Given the description of an element on the screen output the (x, y) to click on. 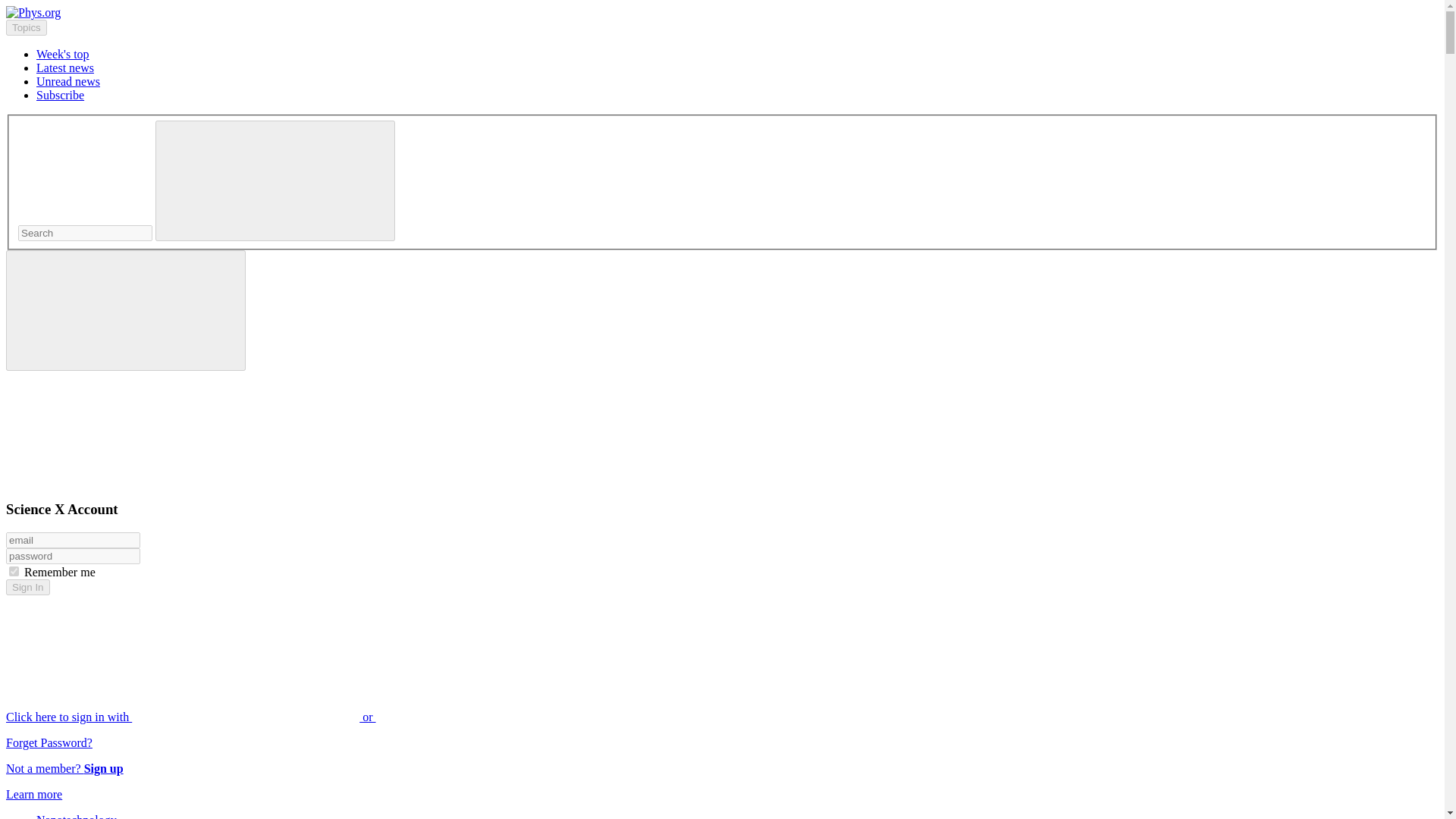
Subscribe (60, 94)
Topics (25, 27)
Week's top (62, 53)
Unread news (68, 81)
Click here to sign in with or (304, 716)
Latest news (65, 67)
Not a member? Sign up (64, 768)
Learn more (33, 793)
Forget Password? (49, 742)
Nanotechnology (76, 816)
